Given the description of an element on the screen output the (x, y) to click on. 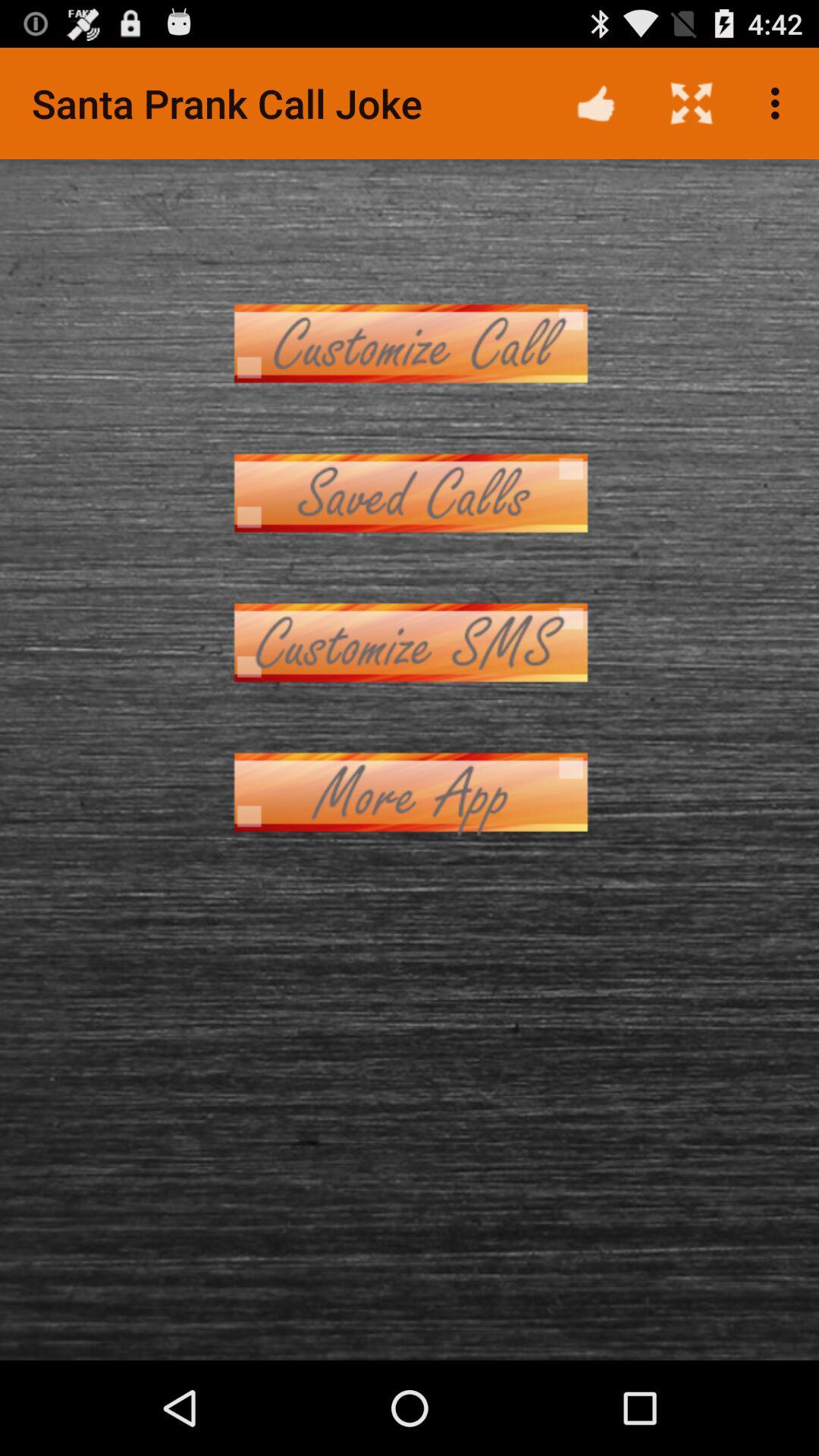
view saved calls (409, 492)
